Given the description of an element on the screen output the (x, y) to click on. 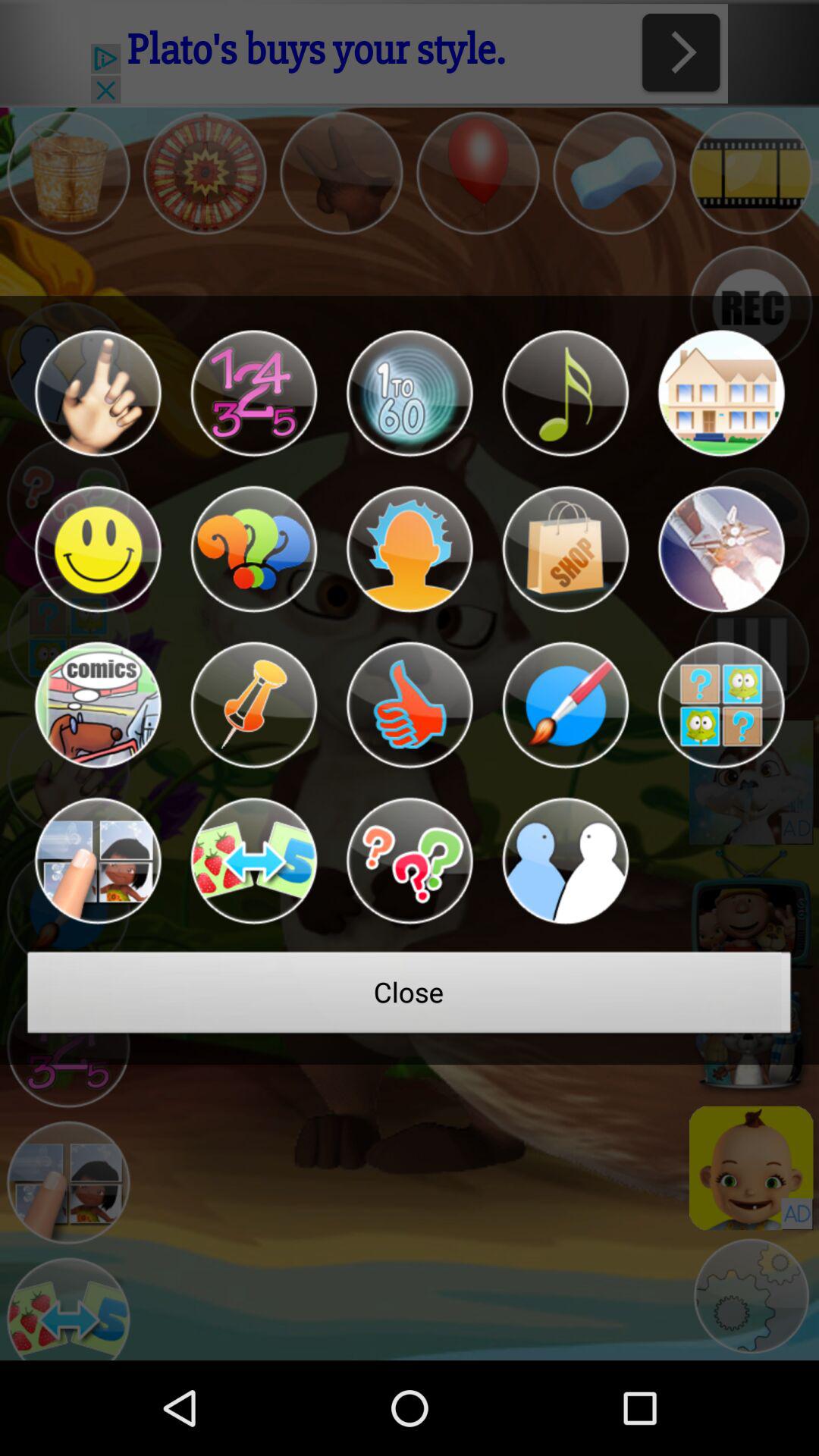
select house (721, 393)
